Given the description of an element on the screen output the (x, y) to click on. 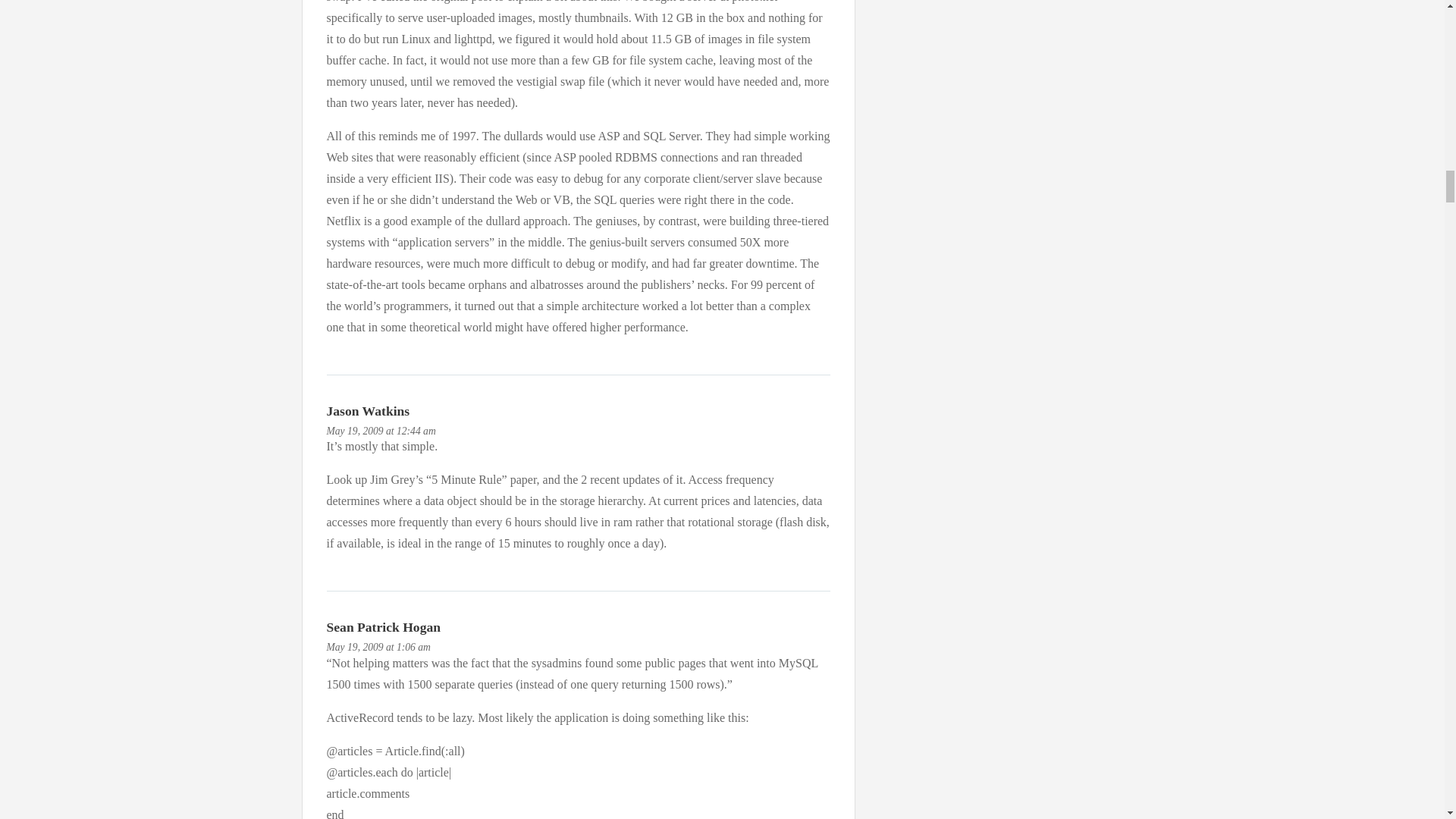
Jason Watkins (367, 410)
May 19, 2009 at 12:44 am (380, 430)
